Given the description of an element on the screen output the (x, y) to click on. 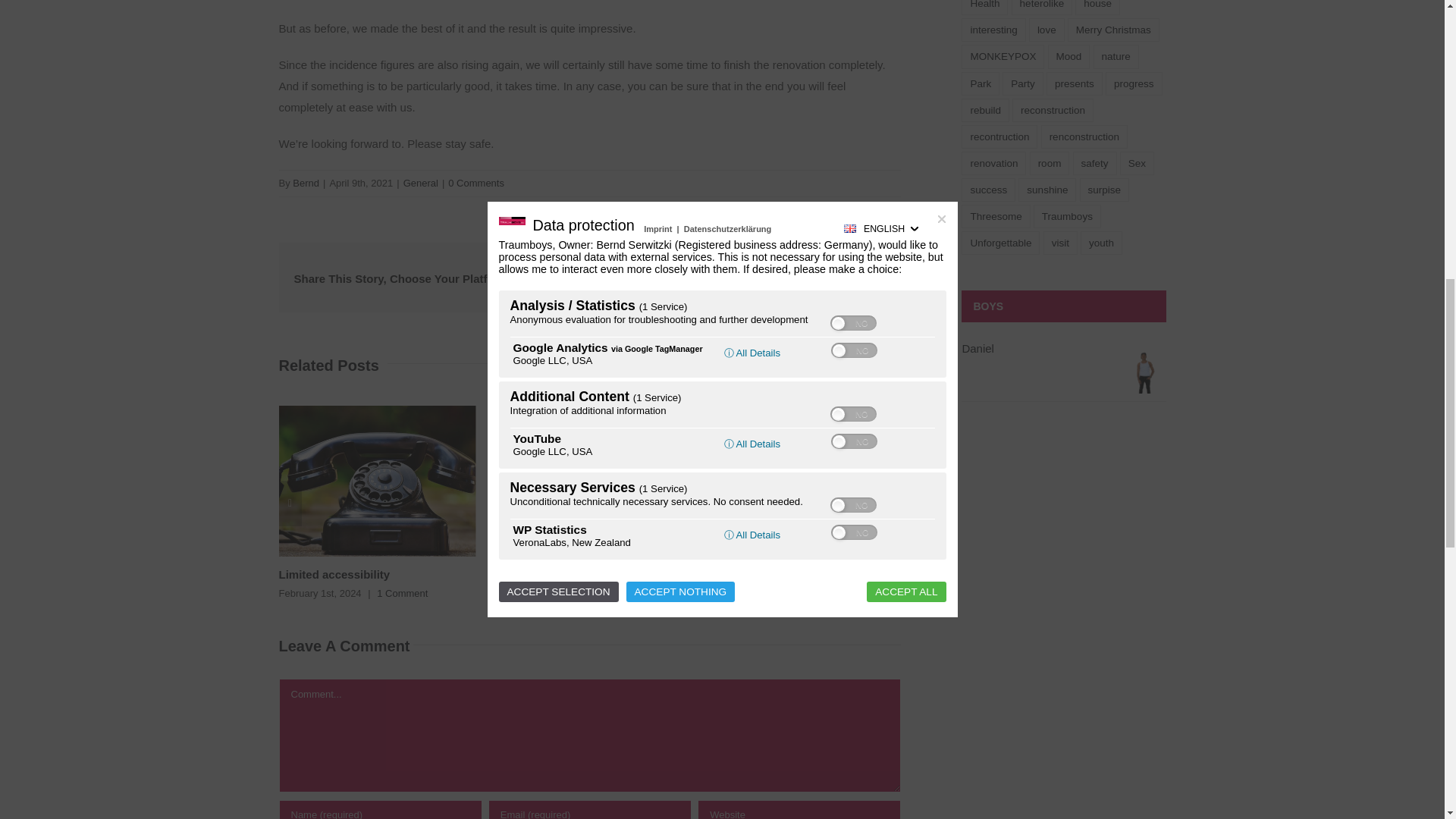
Posts by Bernd (305, 183)
